Given the description of an element on the screen output the (x, y) to click on. 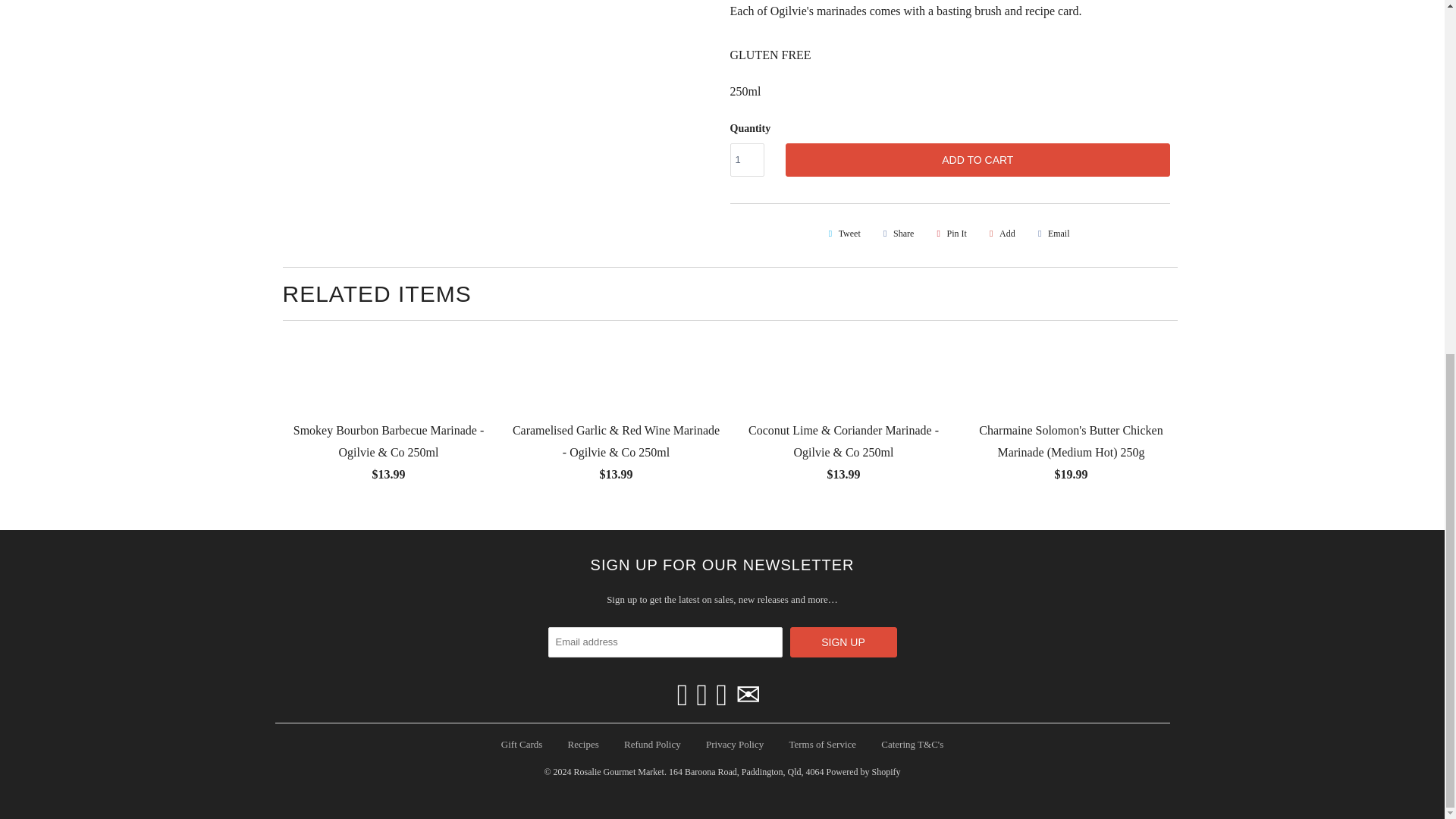
Email Rosalie Gourmet Market (748, 695)
Share this on Facebook (896, 233)
Sign Up (843, 642)
Share this on Twitter (841, 233)
Email this to a friend (1051, 233)
Share this on Pinterest (949, 233)
1 (745, 159)
